Given the description of an element on the screen output the (x, y) to click on. 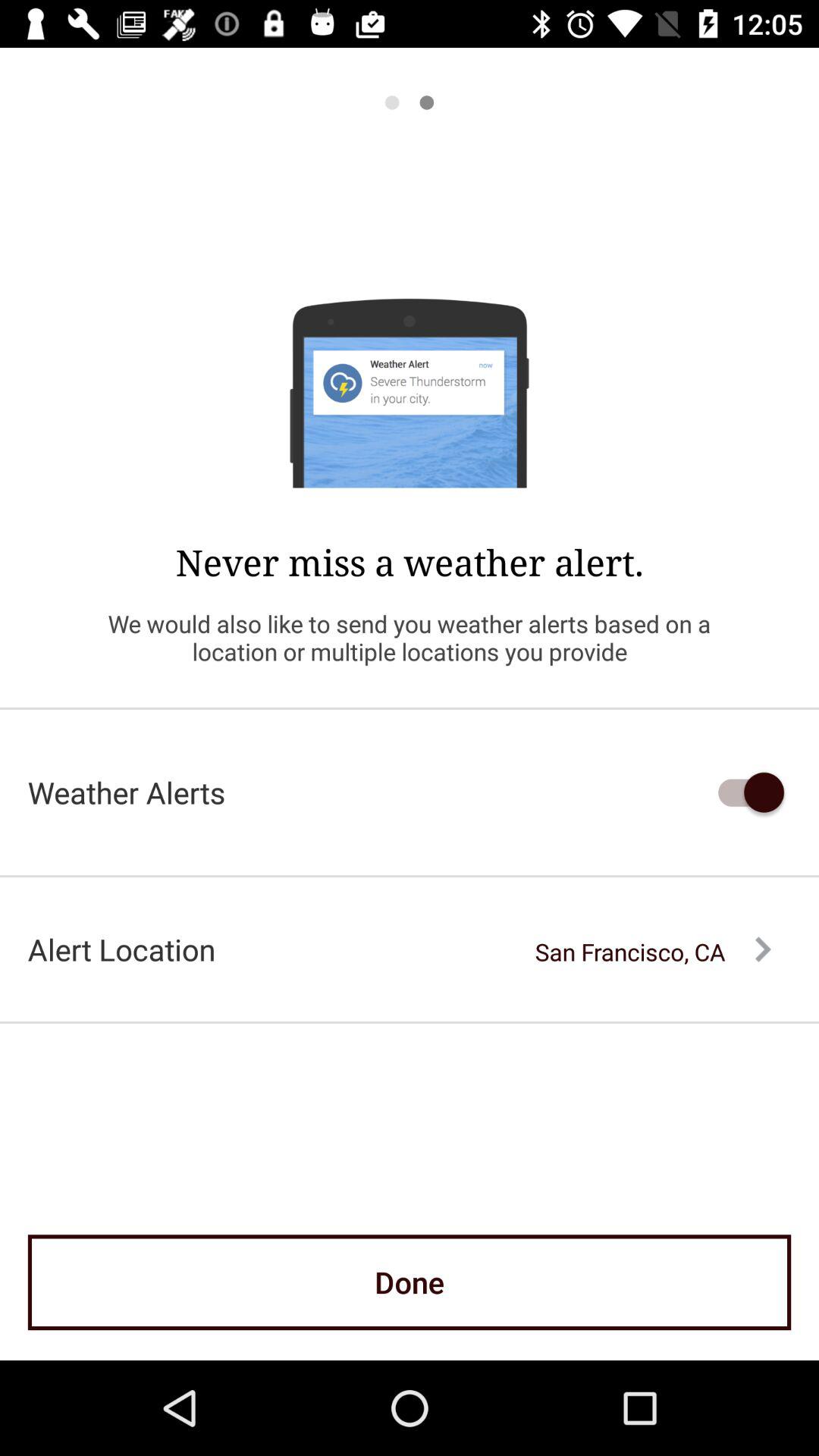
scroll to done item (409, 1282)
